Given the description of an element on the screen output the (x, y) to click on. 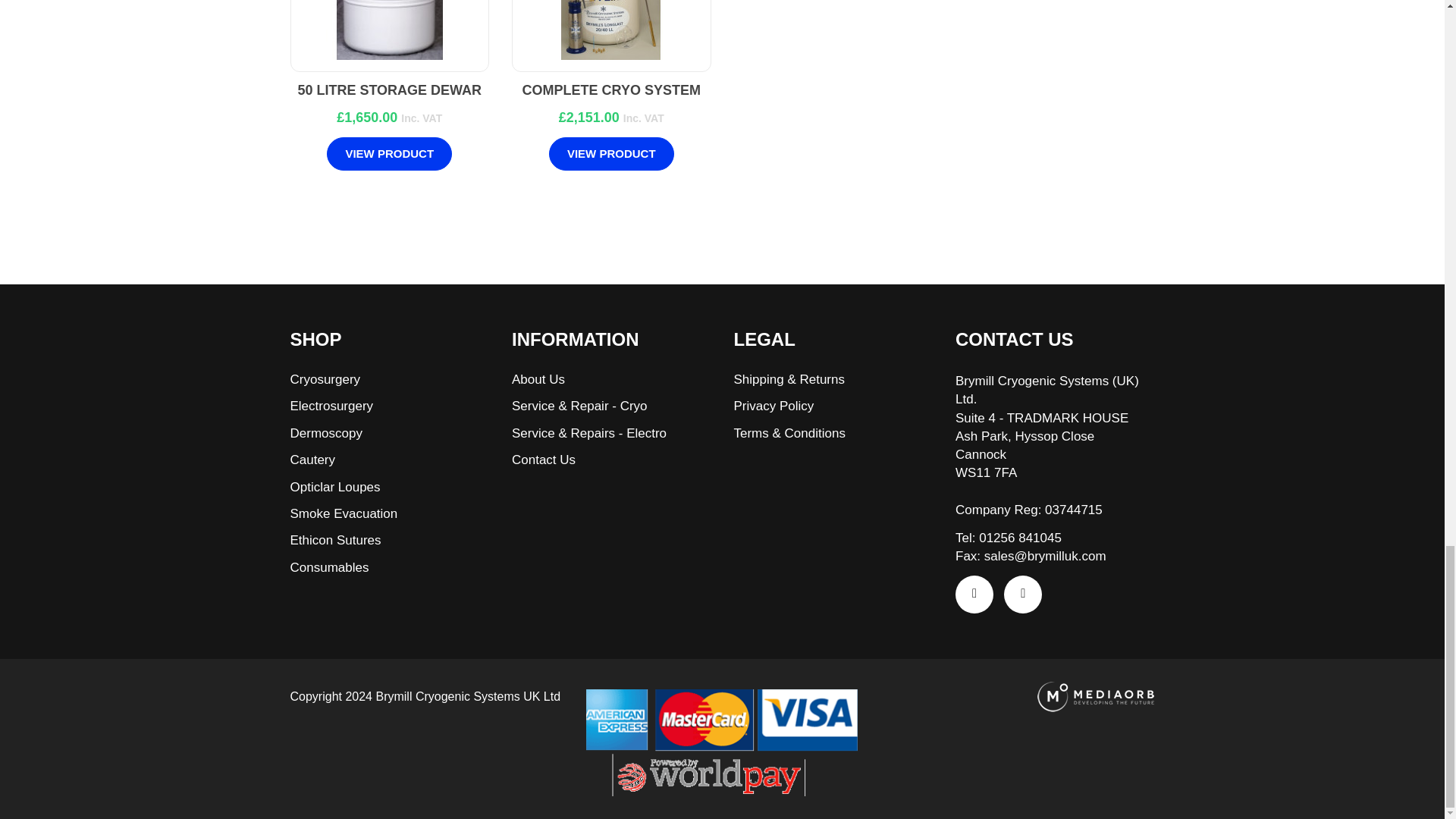
Complete Cryo system (611, 29)
50 Litre Storage Dewar (389, 29)
